Given the description of an element on the screen output the (x, y) to click on. 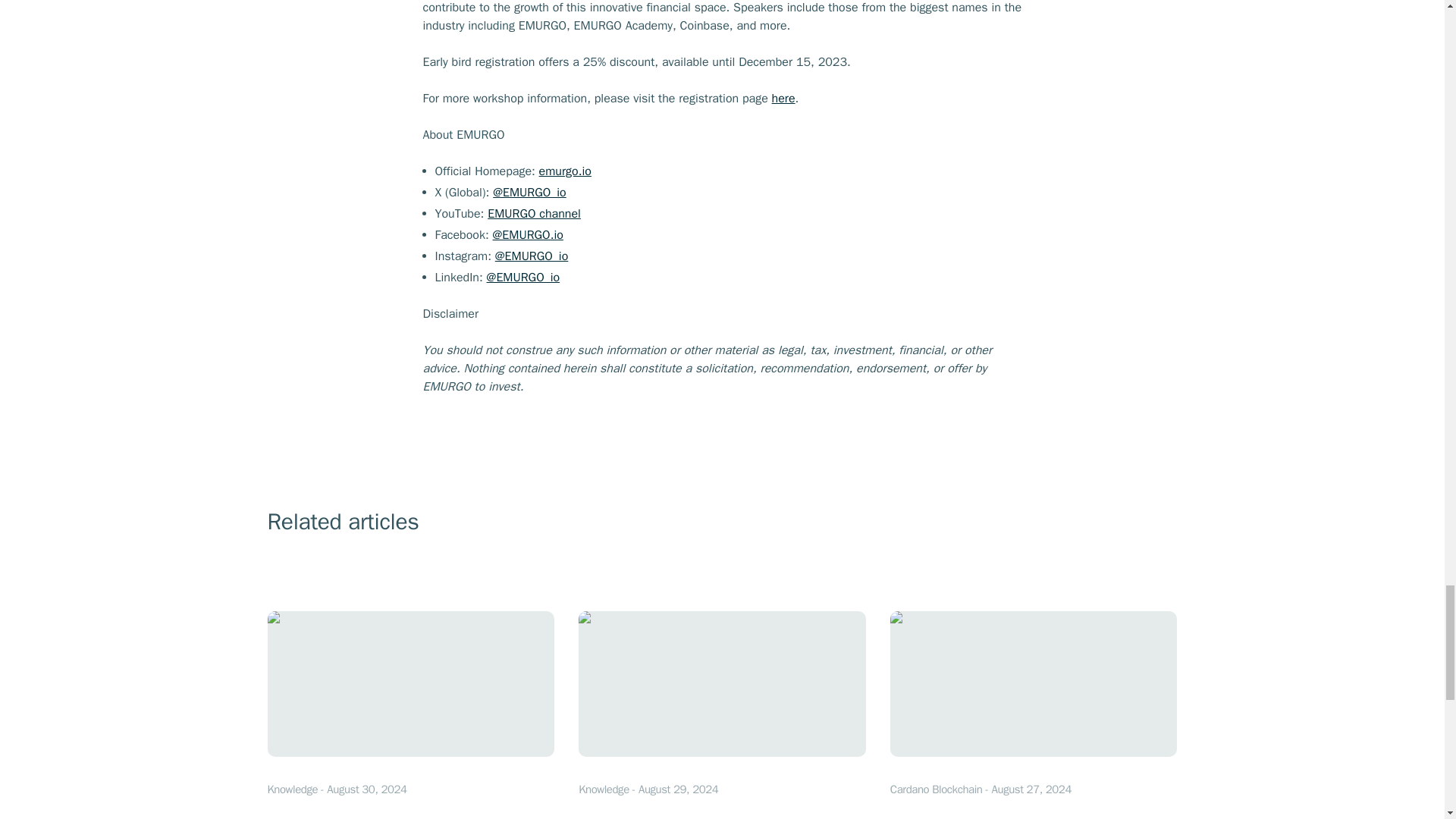
here (782, 98)
EMURGO channel (410, 714)
emurgo.io (533, 213)
